Given the description of an element on the screen output the (x, y) to click on. 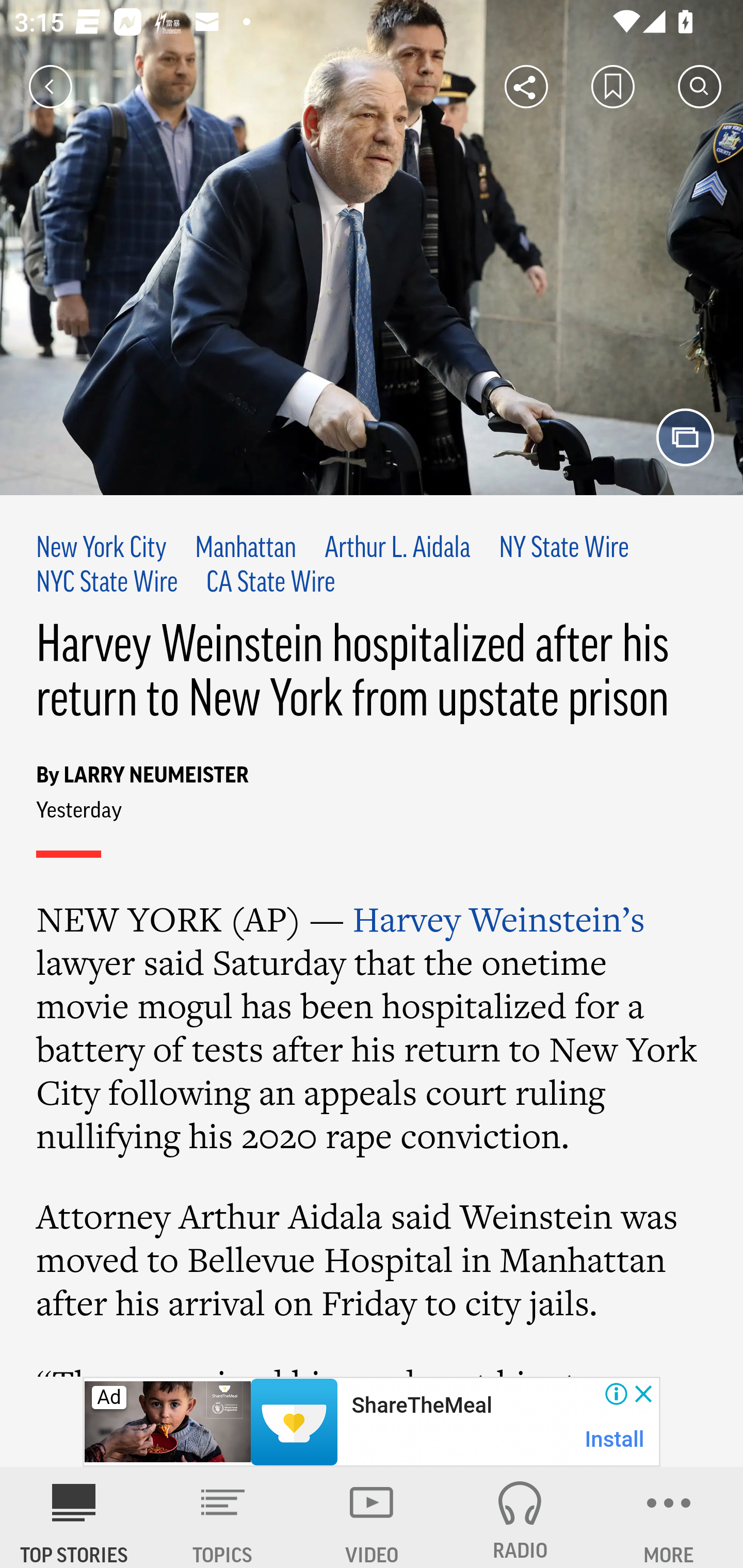
New York City (101, 549)
Manhattan (245, 549)
Arthur L. Aidala (397, 549)
NY State Wire (564, 549)
NYC State Wire (107, 584)
CA State Wire (270, 584)
Harvey Weinstein’s (499, 918)
ShareTheMeal (420, 1405)
Install (614, 1438)
AP News TOP STORIES (74, 1517)
TOPICS (222, 1517)
VIDEO (371, 1517)
RADIO (519, 1517)
MORE (668, 1517)
